Given the description of an element on the screen output the (x, y) to click on. 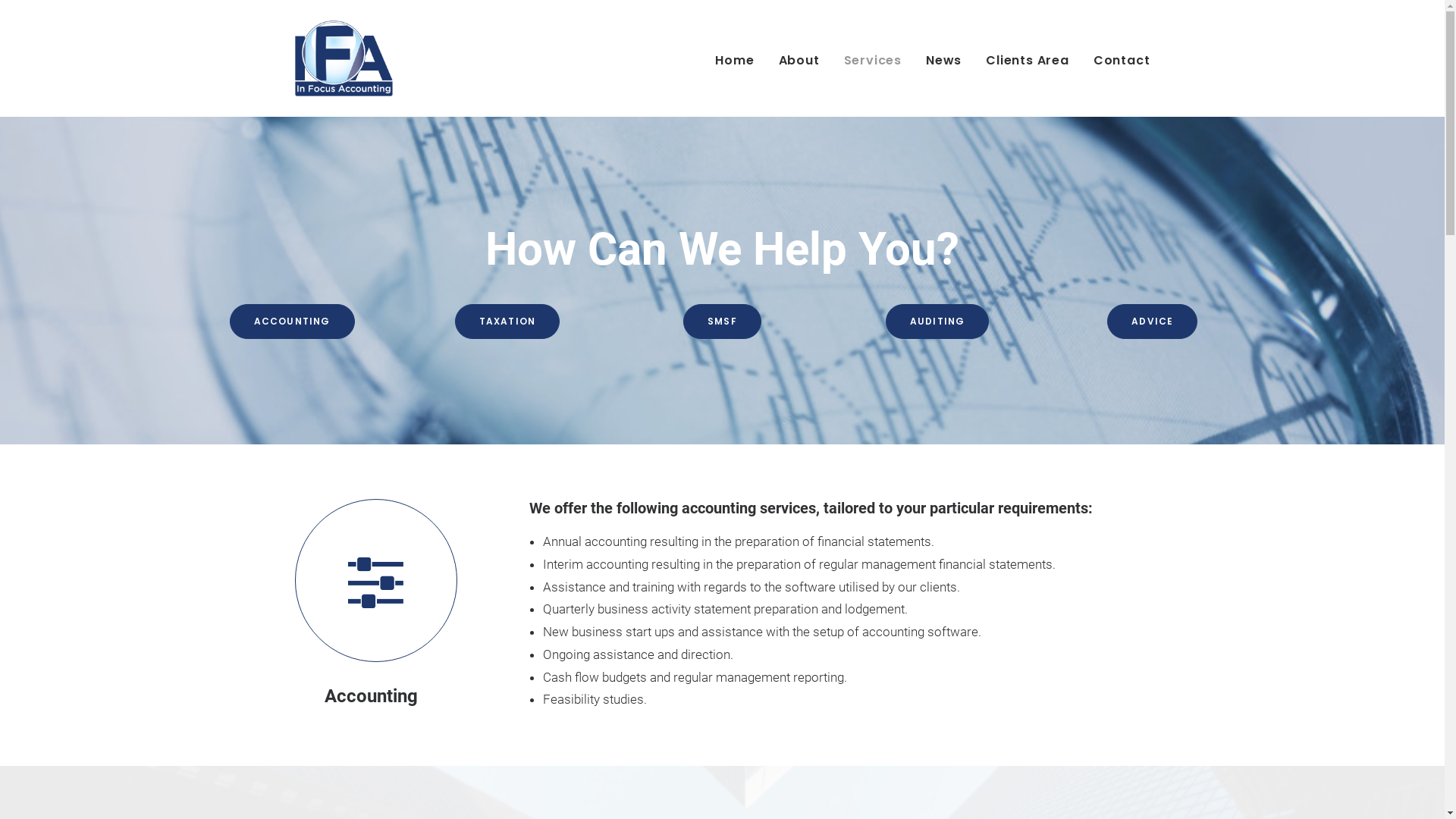
About Element type: text (799, 58)
ACCOUNTING Element type: text (291, 320)
AUDITING Element type: text (937, 320)
TAXATION Element type: text (507, 320)
Home Element type: text (739, 58)
Clients Area Element type: text (1027, 58)
Contact Element type: text (1116, 58)
Services Element type: text (872, 58)
SMSF Element type: text (722, 320)
ADVICE Element type: text (1152, 320)
News Element type: text (943, 58)
